Given the description of an element on the screen output the (x, y) to click on. 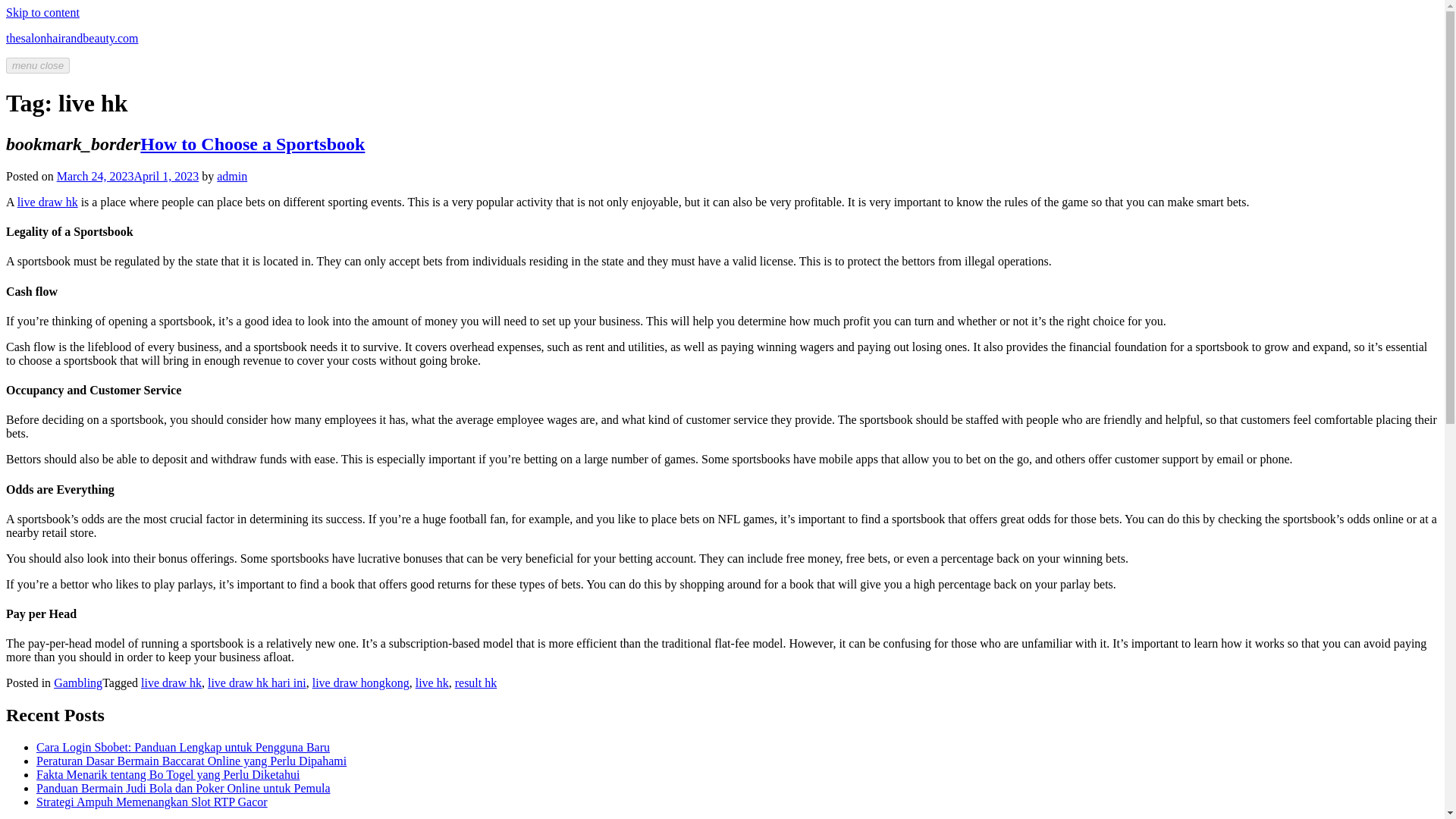
Strategi Ampuh Memenangkan Slot RTP Gacor (151, 801)
live draw hk (171, 682)
live draw hk (47, 201)
Panduan Bermain Judi Bola dan Poker Online untuk Pemula (183, 788)
Gambling (77, 682)
thesalonhairandbeauty.com (71, 38)
Peraturan Dasar Bermain Baccarat Online yang Perlu Dipahami (191, 760)
result hk (475, 682)
Skip to content (42, 11)
menu close (37, 65)
